Given the description of an element on the screen output the (x, y) to click on. 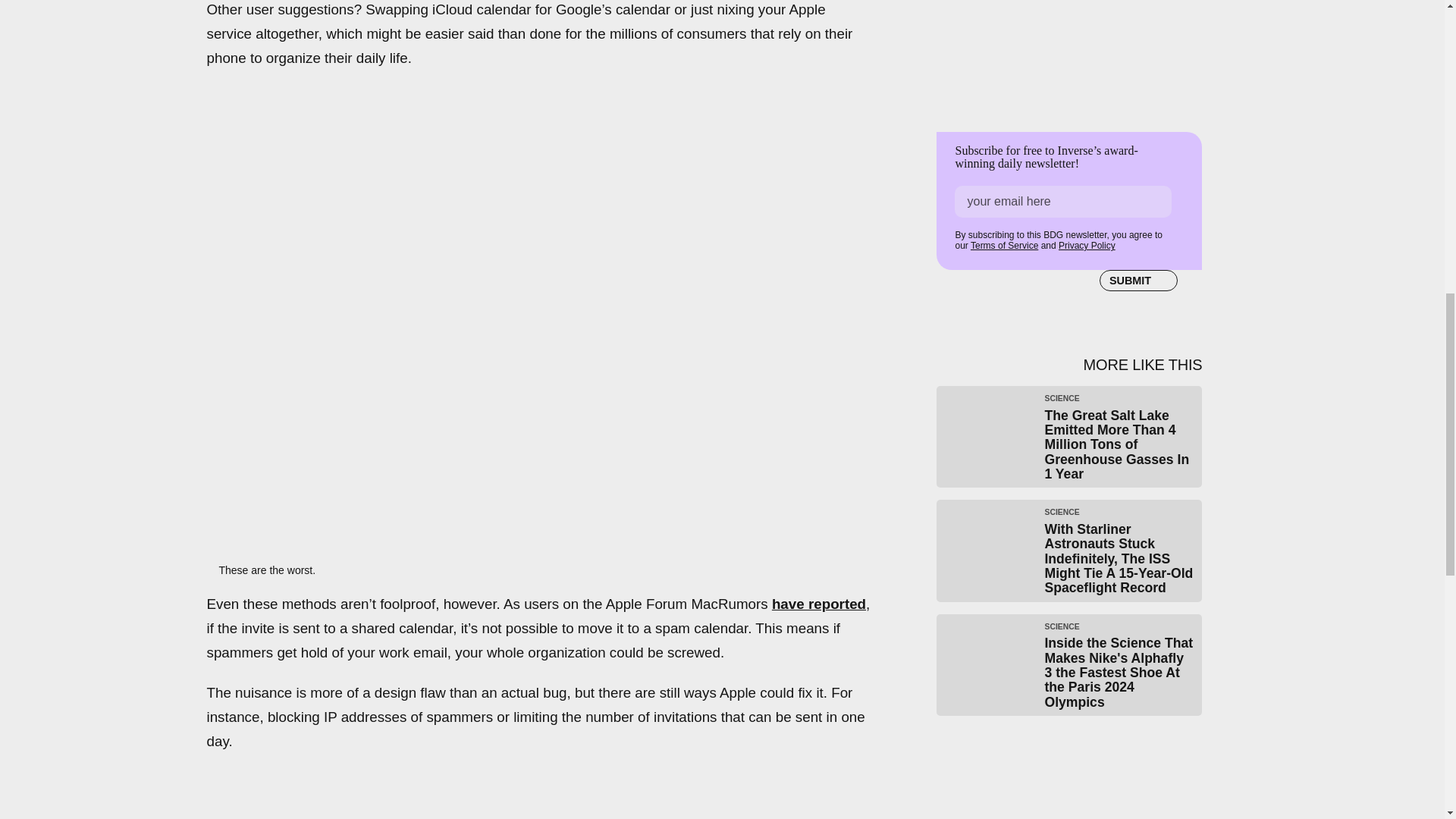
Terms of Service (1004, 245)
SUBMIT (1138, 279)
Privacy Policy (1086, 245)
have reported (818, 603)
